Given the description of an element on the screen output the (x, y) to click on. 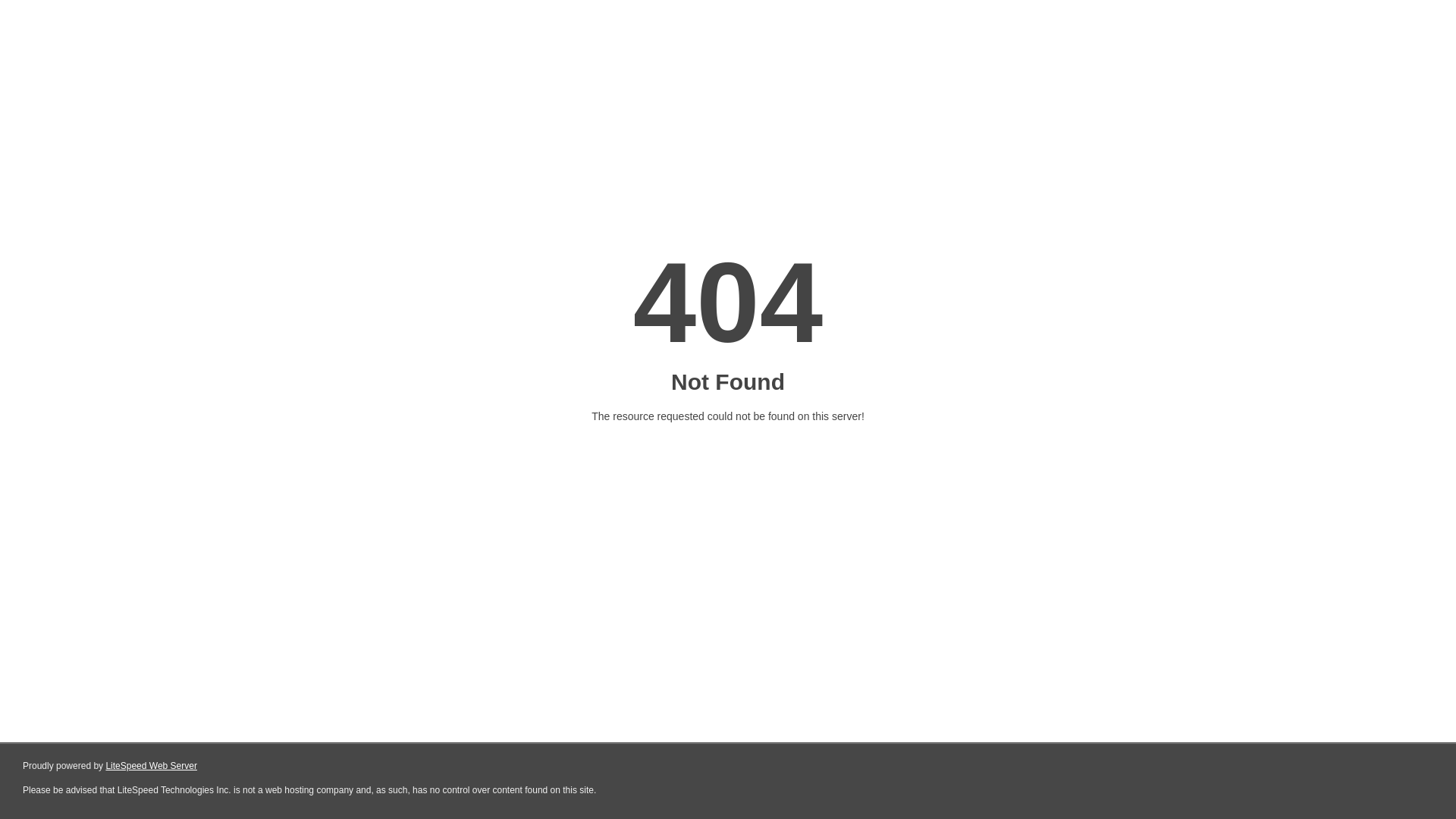
LiteSpeed Web Server (150, 765)
